Given the description of an element on the screen output the (x, y) to click on. 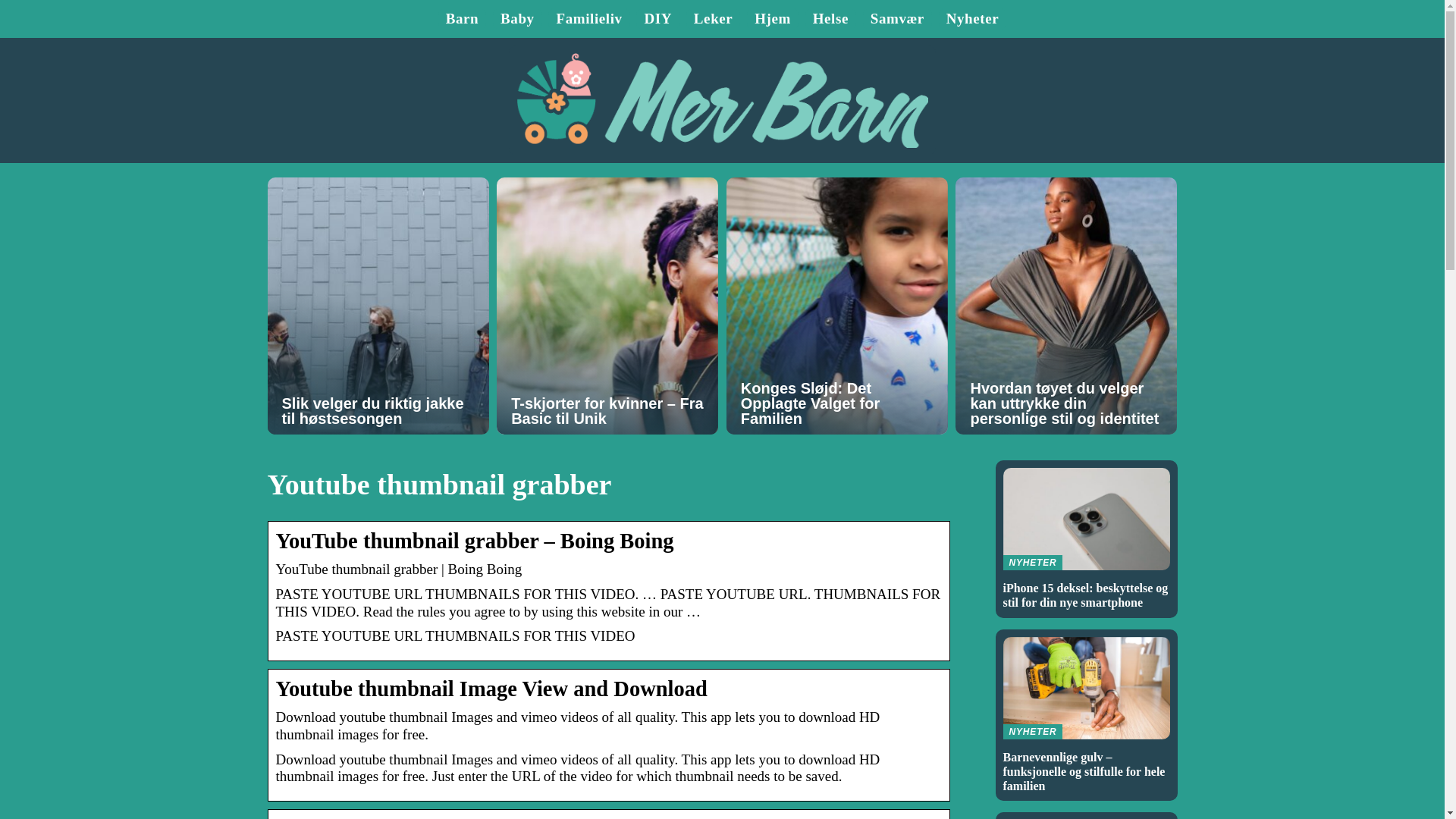
Nyheter (972, 18)
DIY (657, 18)
Barn (462, 18)
Leker (713, 18)
Familieliv (588, 18)
Hjem (772, 18)
Helse (830, 18)
Baby (517, 18)
